Given the description of an element on the screen output the (x, y) to click on. 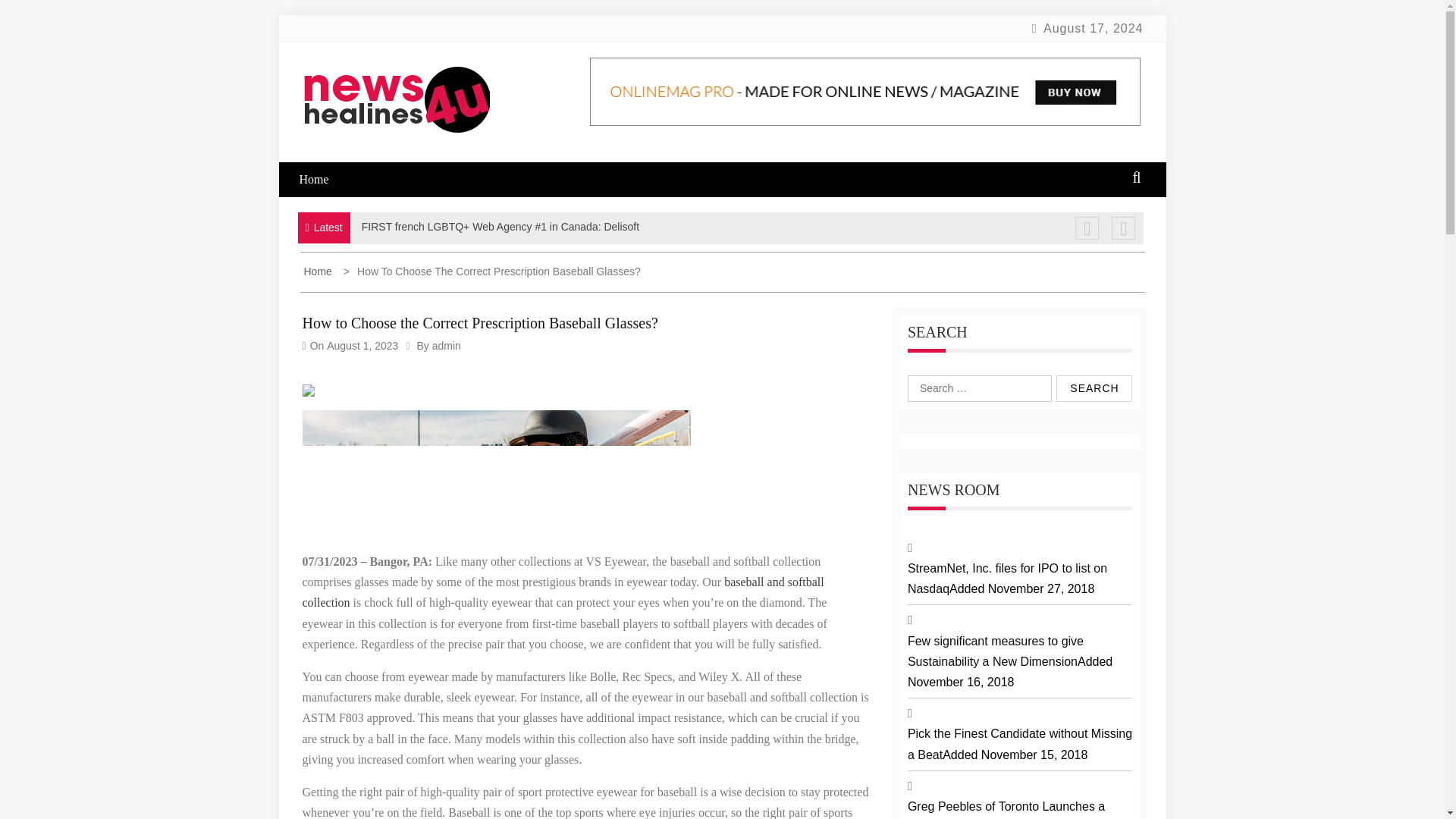
Home (323, 179)
Pick the Finest Candidate without Missing a Beat (1019, 743)
baseball and softball collection (562, 592)
News Headlines 4 u (430, 180)
Search (1094, 388)
Search (1094, 388)
August 1, 2023 (361, 345)
StreamNet, Inc. files for IPO to list on Nasdaq (1006, 578)
admin (446, 345)
